Given the description of an element on the screen output the (x, y) to click on. 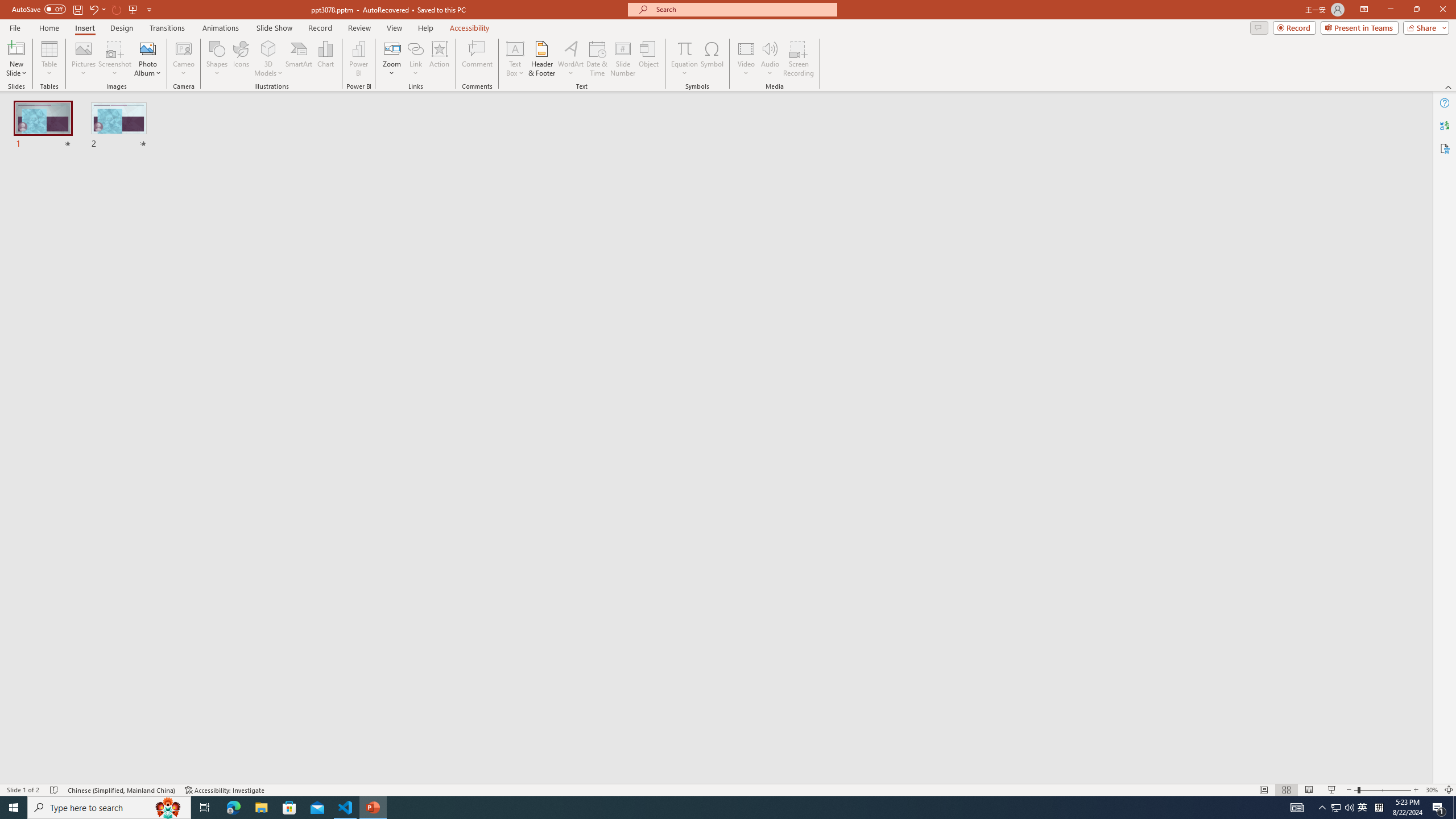
Close (Ctrl+F4) (537, 183)
sample_500k.py (352, 183)
Application Menu (76, 183)
Explorer (Ctrl+Shift+E) (76, 221)
Microsoft security help and learning (23, 348)
Reload (510, 508)
